Given the description of an element on the screen output the (x, y) to click on. 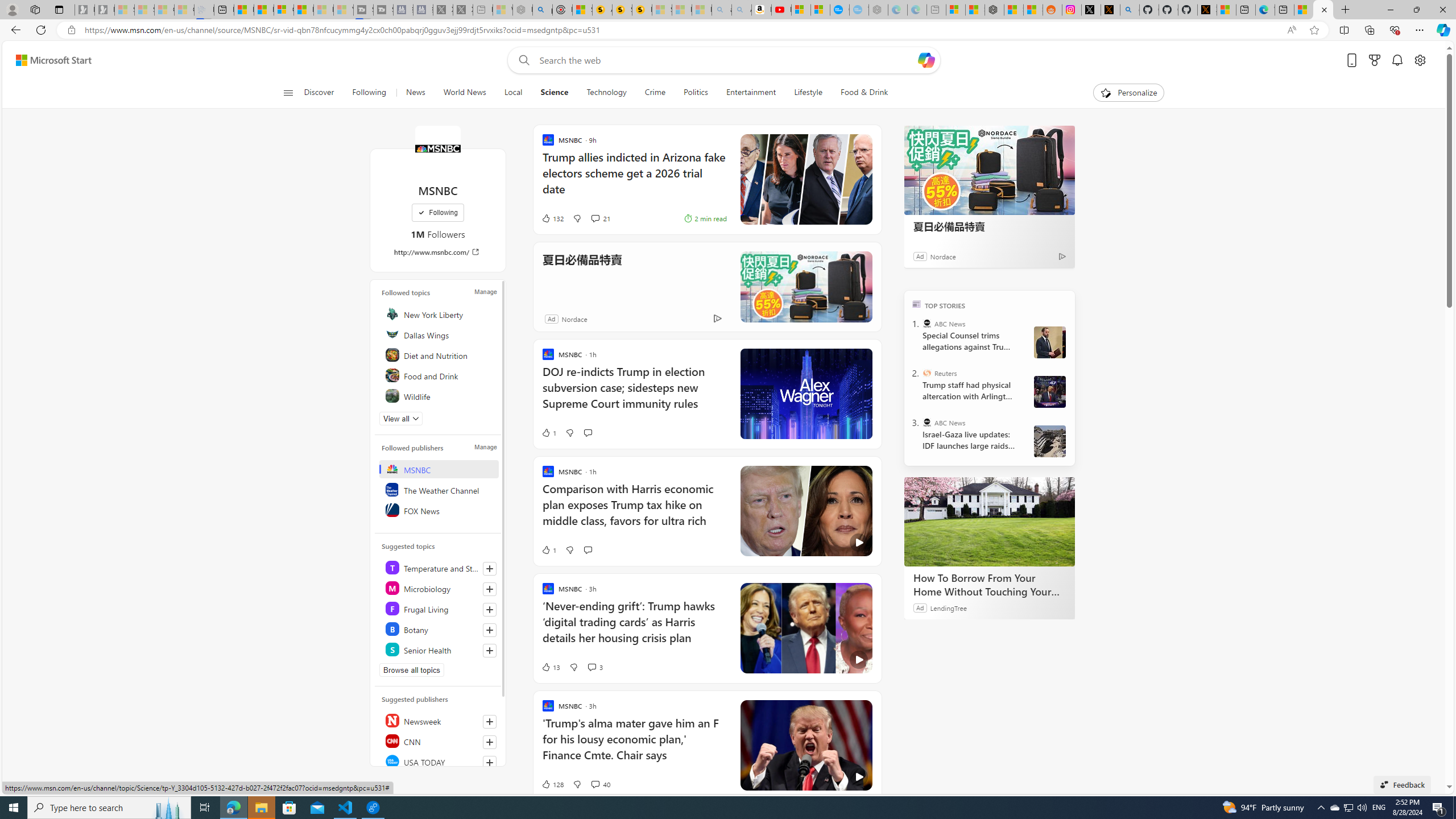
TOP (916, 302)
Food and Drink (439, 375)
Follow this topic (489, 650)
USA TODAY (439, 761)
Newsweek (439, 720)
Wildlife - MSN - Sleeping (501, 9)
Local (513, 92)
